Given the description of an element on the screen output the (x, y) to click on. 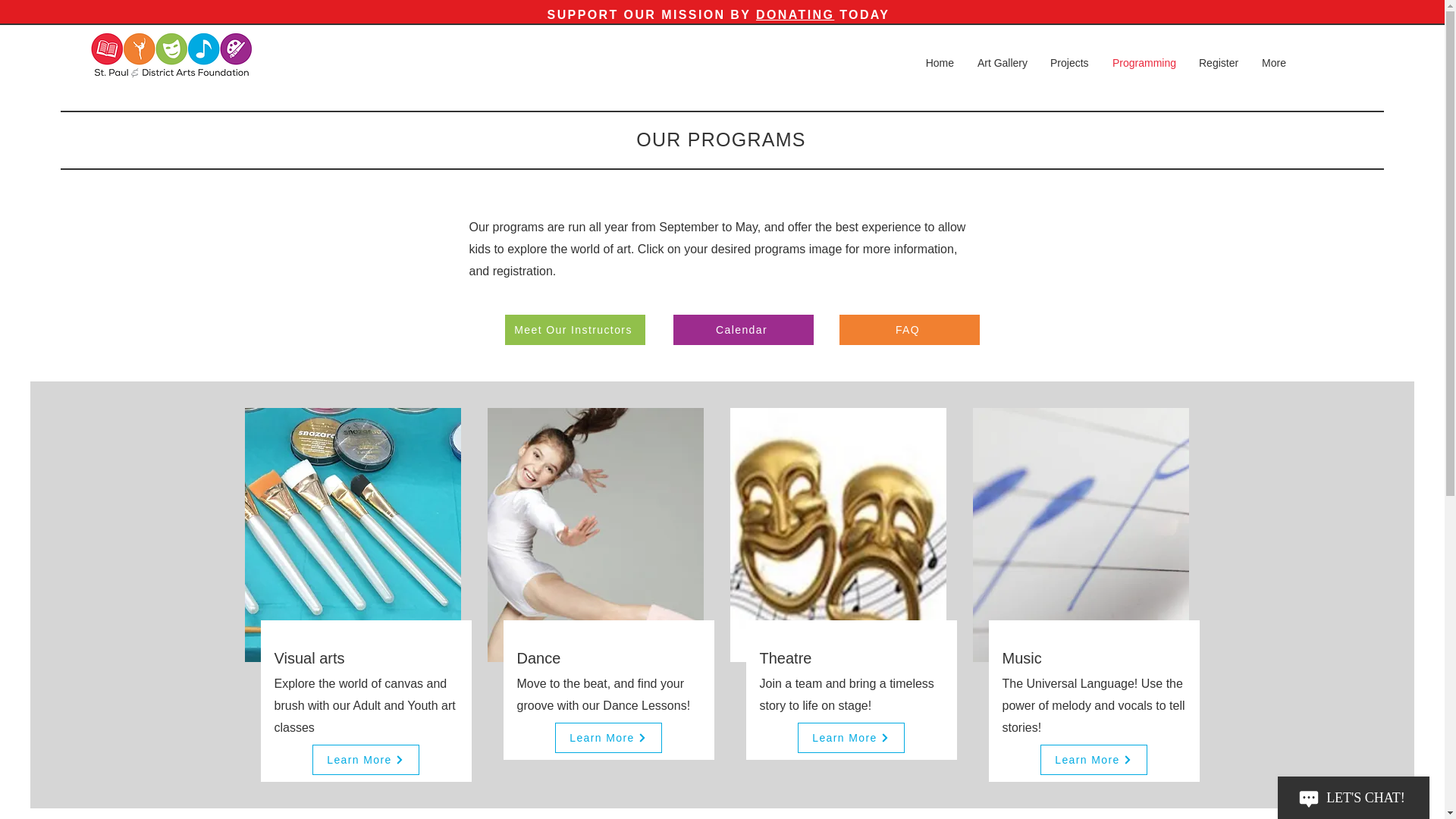
Programming (1143, 62)
Art Gallery (1002, 62)
Learn More (366, 759)
Calendar (742, 329)
Home (939, 62)
DONATING (794, 14)
Register (1218, 62)
FAQ (908, 329)
Projects (1069, 62)
Learn More (850, 737)
Meet Our Instructors (575, 329)
Learn More (608, 737)
Learn More (1094, 759)
